Given the description of an element on the screen output the (x, y) to click on. 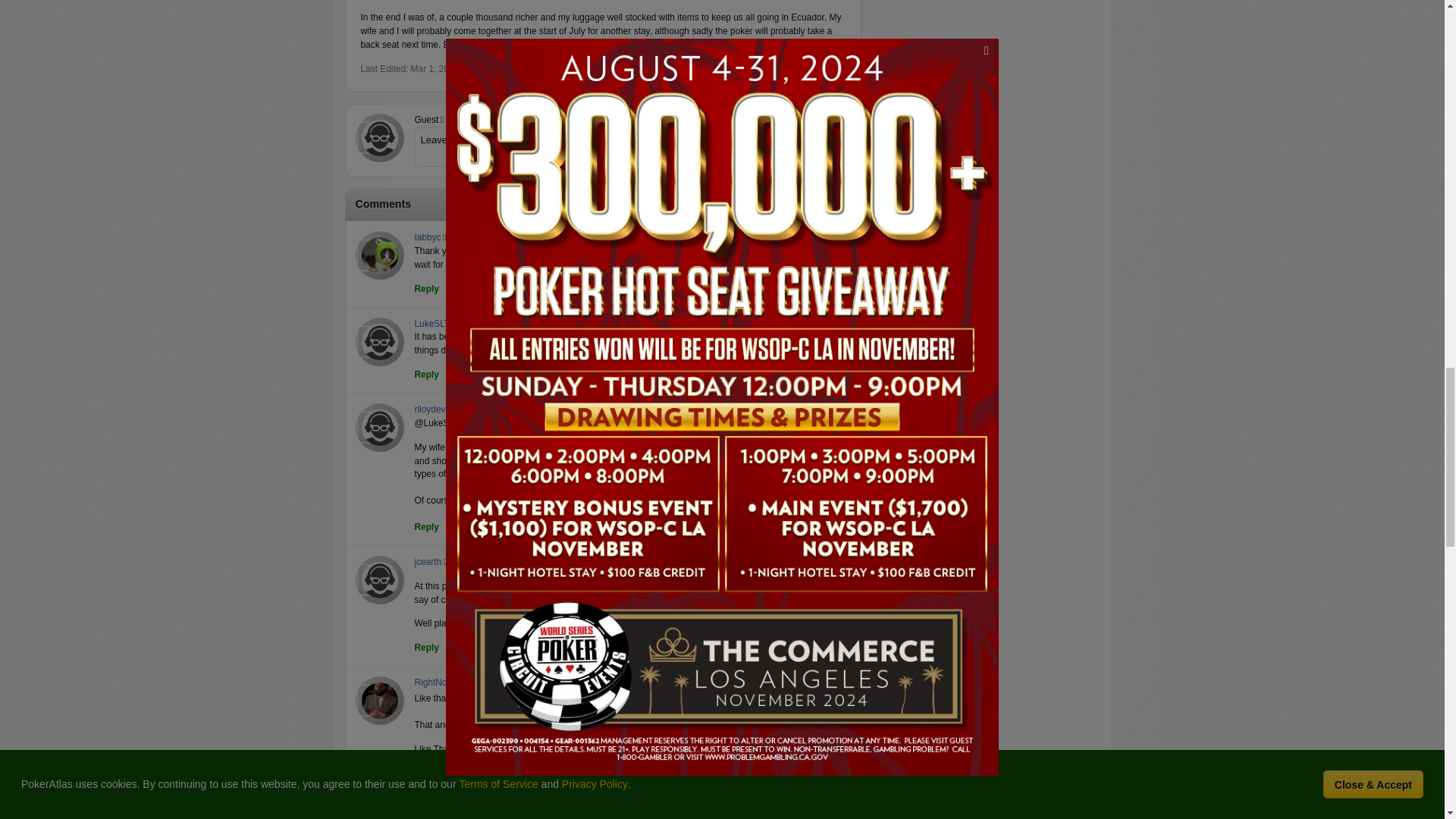
Mar 2, 2010 (493, 409)
:laughing: (746, 501)
:laughing: (757, 699)
Mar 2, 2010 (487, 683)
Mar 2, 2010 (474, 237)
Mar 2, 2010 (493, 807)
Mar 2, 2010 (475, 562)
Mar 1, 2010 (434, 68)
Mar 2, 2010 (490, 323)
